Given the description of an element on the screen output the (x, y) to click on. 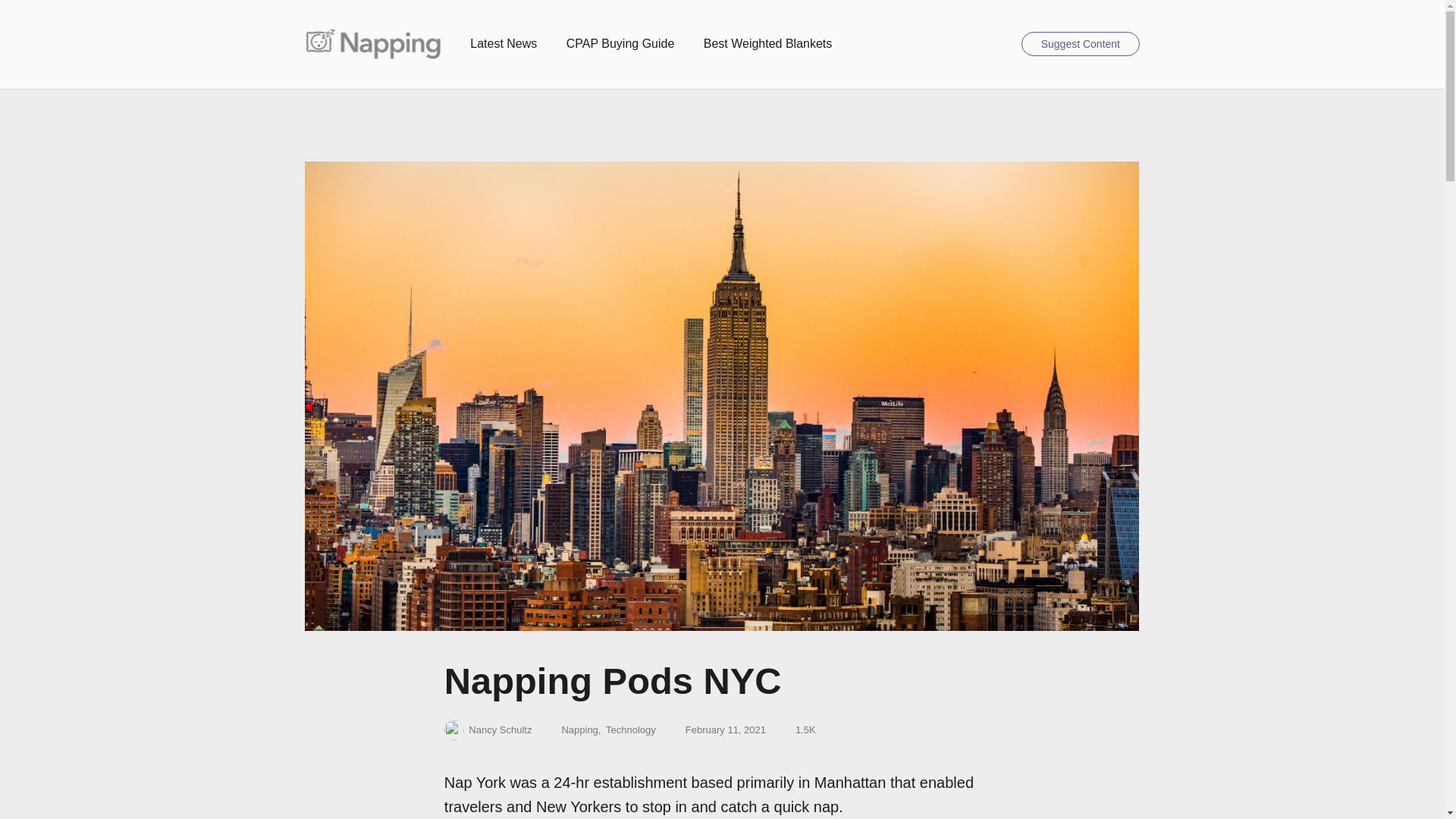
Technology (630, 729)
Author (488, 730)
Napping.com (372, 43)
Latest News (503, 44)
Napping (579, 729)
Views (796, 729)
Search (1002, 43)
Terms (600, 729)
Suggest Content (1080, 43)
Best Weighted Blankets (767, 44)
